Given the description of an element on the screen output the (x, y) to click on. 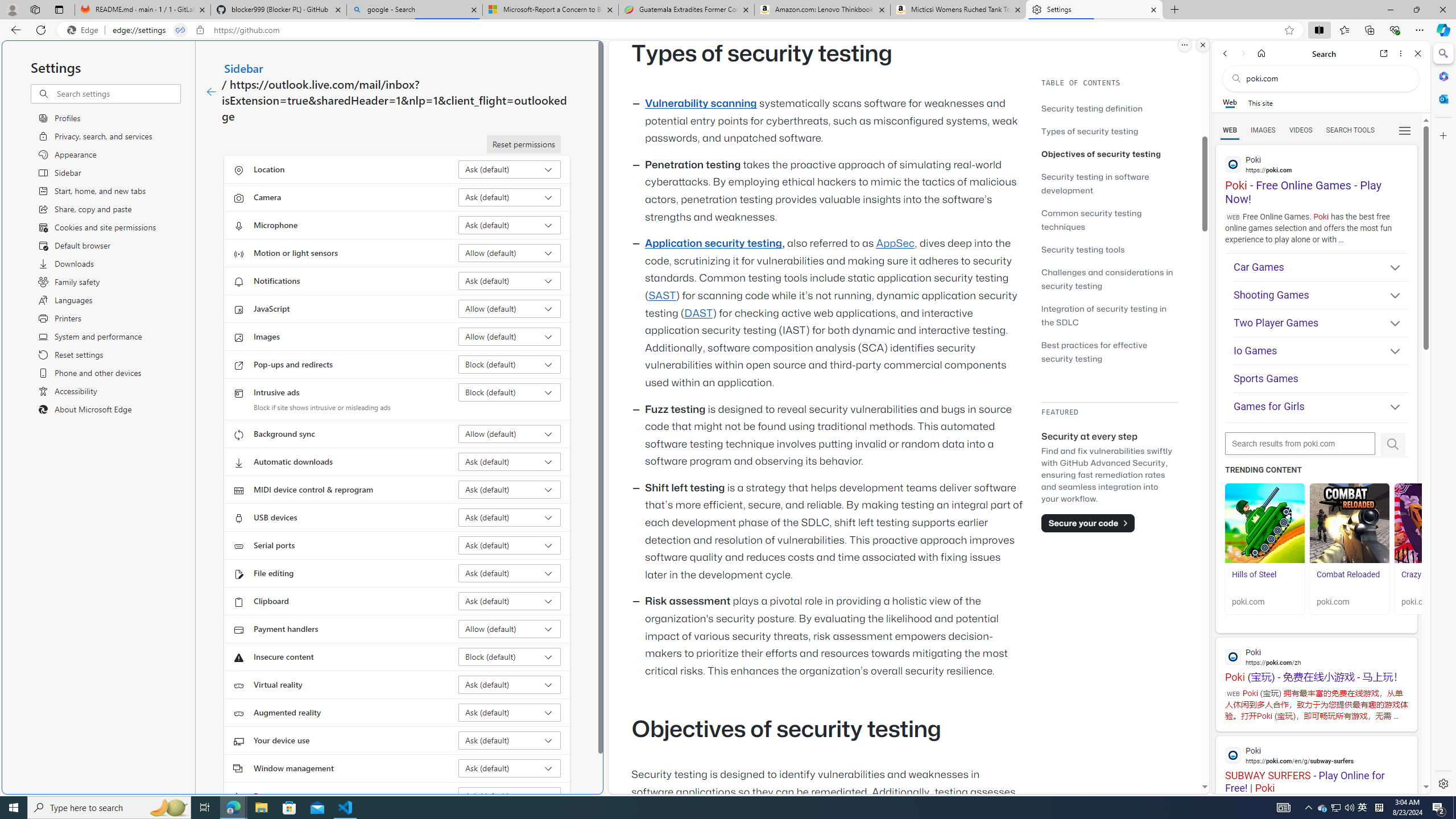
Security testing definition (1091, 108)
Best practices for effective security testing (1094, 351)
Games for Girls (1320, 407)
SUBWAY SURFERS - Play Online for Free! | Poki (1315, 765)
Virtual reality Ask (default) (509, 684)
Io Games (1320, 351)
Security testing in software development (1094, 182)
Poki - Free Online Games - Play Now! (1315, 175)
Hills of Steel (1264, 523)
